Given the description of an element on the screen output the (x, y) to click on. 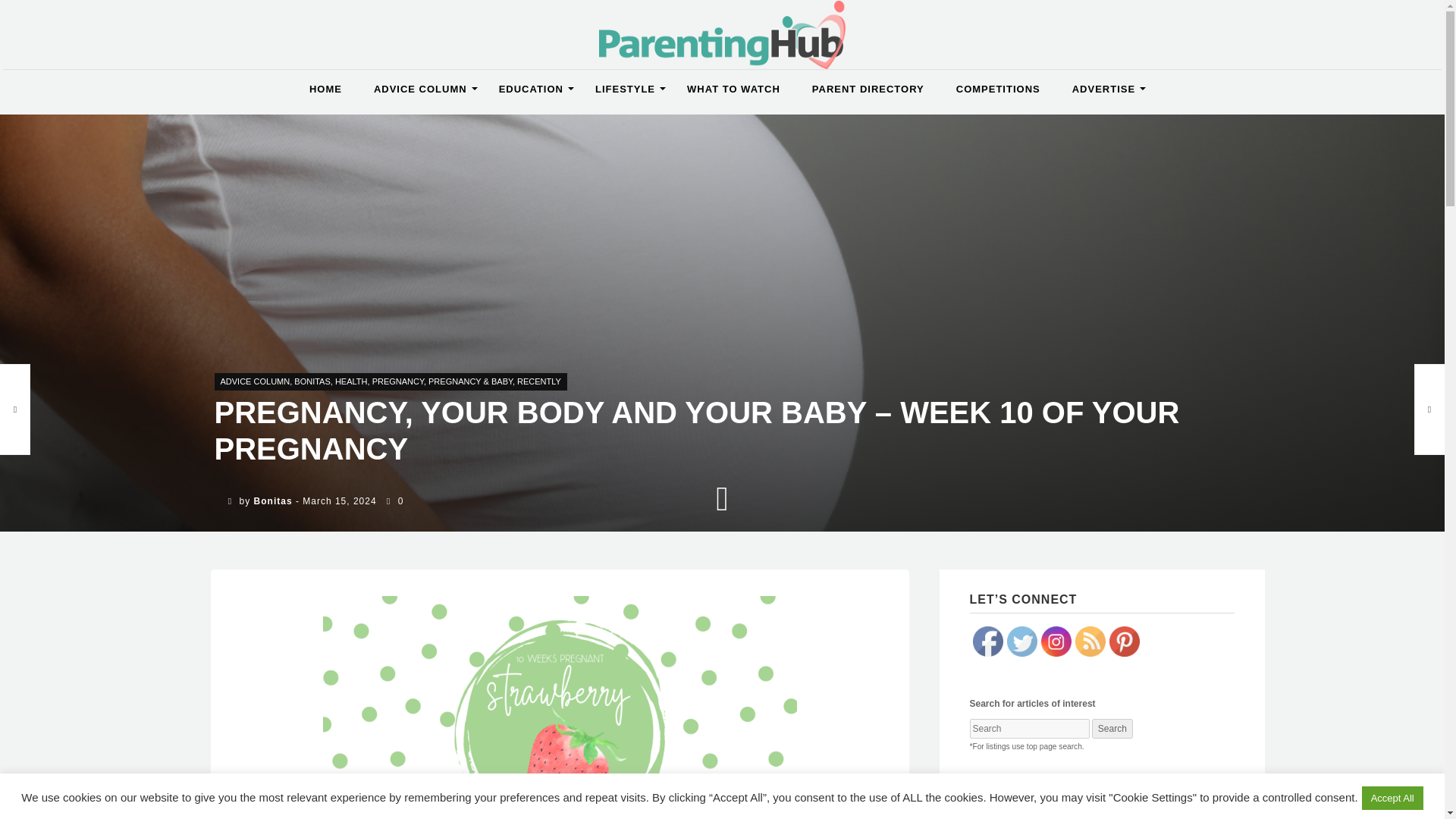
Home (326, 88)
LIFESTYLE (625, 88)
ADVICE COLUMN (420, 88)
Education (531, 88)
COMPETITIONS (998, 88)
PARENT DIRECTORY (868, 88)
ADVERTISE (1104, 88)
HOME (326, 88)
WHAT TO WATCH (733, 88)
EDUCATION (531, 88)
Advice Column (420, 88)
